Given the description of an element on the screen output the (x, y) to click on. 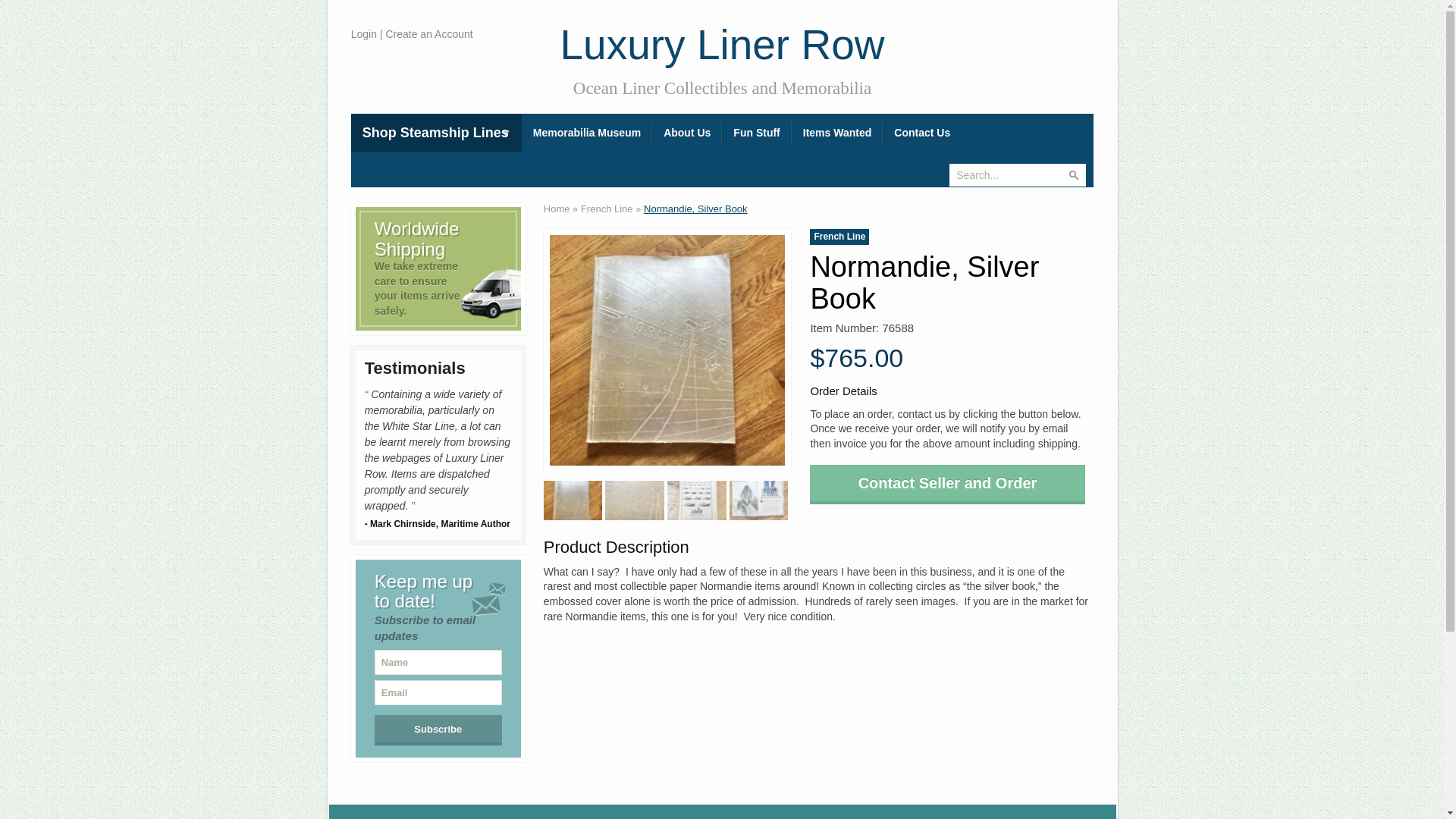
French Line (606, 208)
Shop Steamship Lines (435, 132)
Login (363, 33)
Items Wanted (837, 132)
Subscribe (438, 729)
Home (556, 208)
Memorabilia Museum (586, 132)
Subscribe (438, 729)
About Us (687, 132)
Create an Account (428, 33)
